Given the description of an element on the screen output the (x, y) to click on. 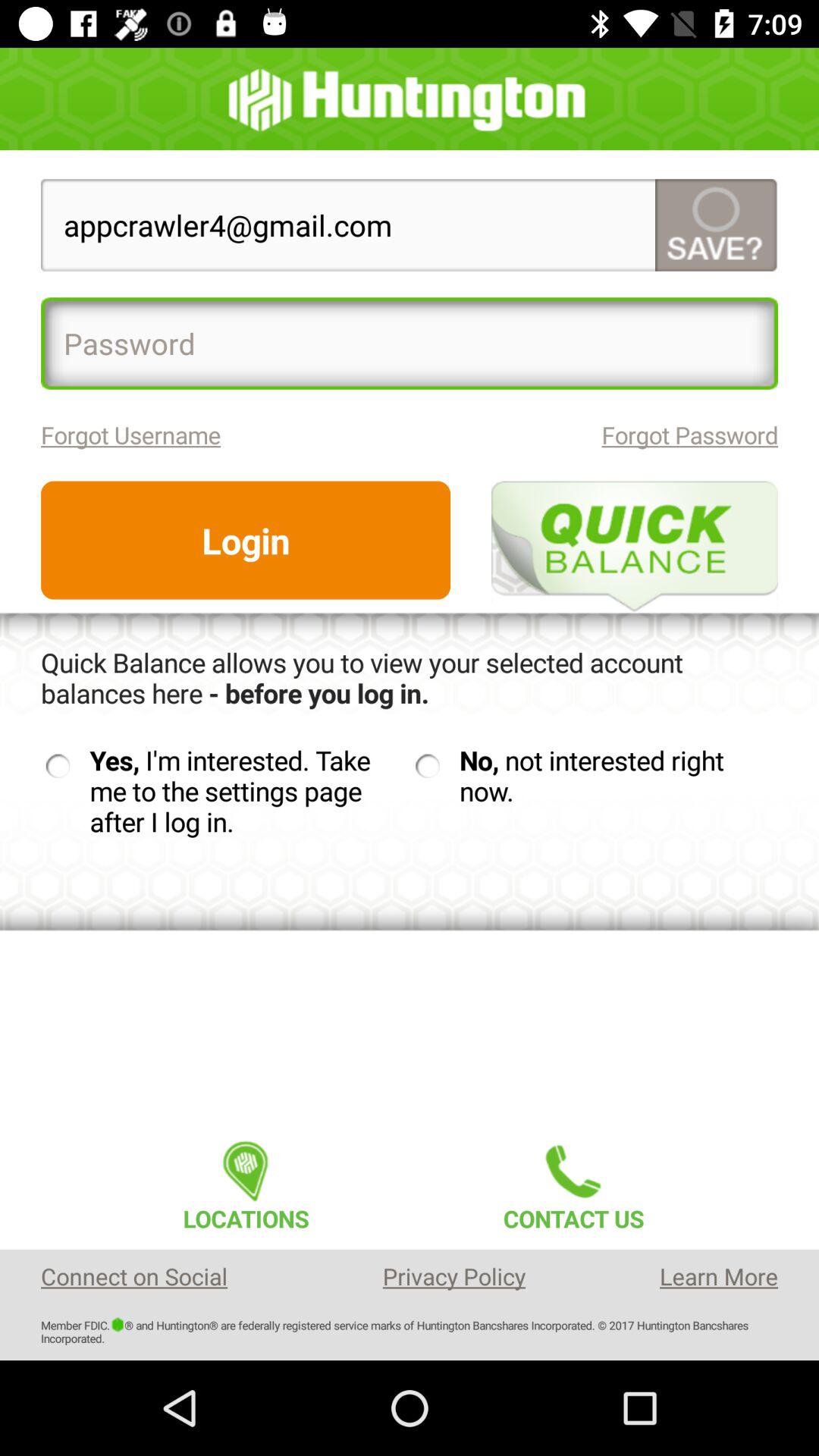
flip until the login (245, 540)
